Given the description of an element on the screen output the (x, y) to click on. 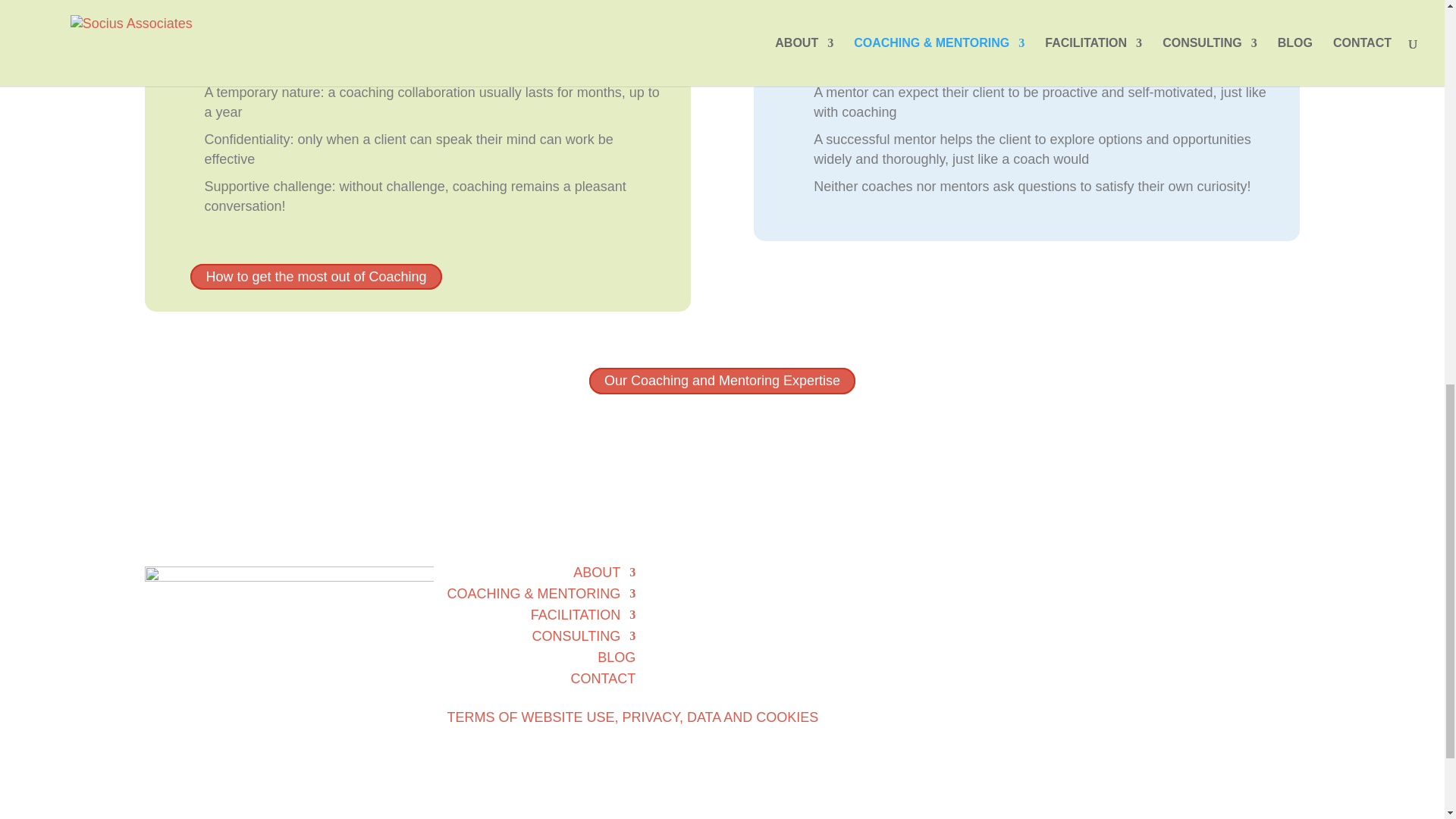
Our Coaching and Mentoring Expertise (722, 380)
CONSULTING (584, 635)
BLOG (615, 657)
ABOUT (603, 572)
How to get the most out of Coaching (315, 276)
FACILITATION (582, 614)
